Given the description of an element on the screen output the (x, y) to click on. 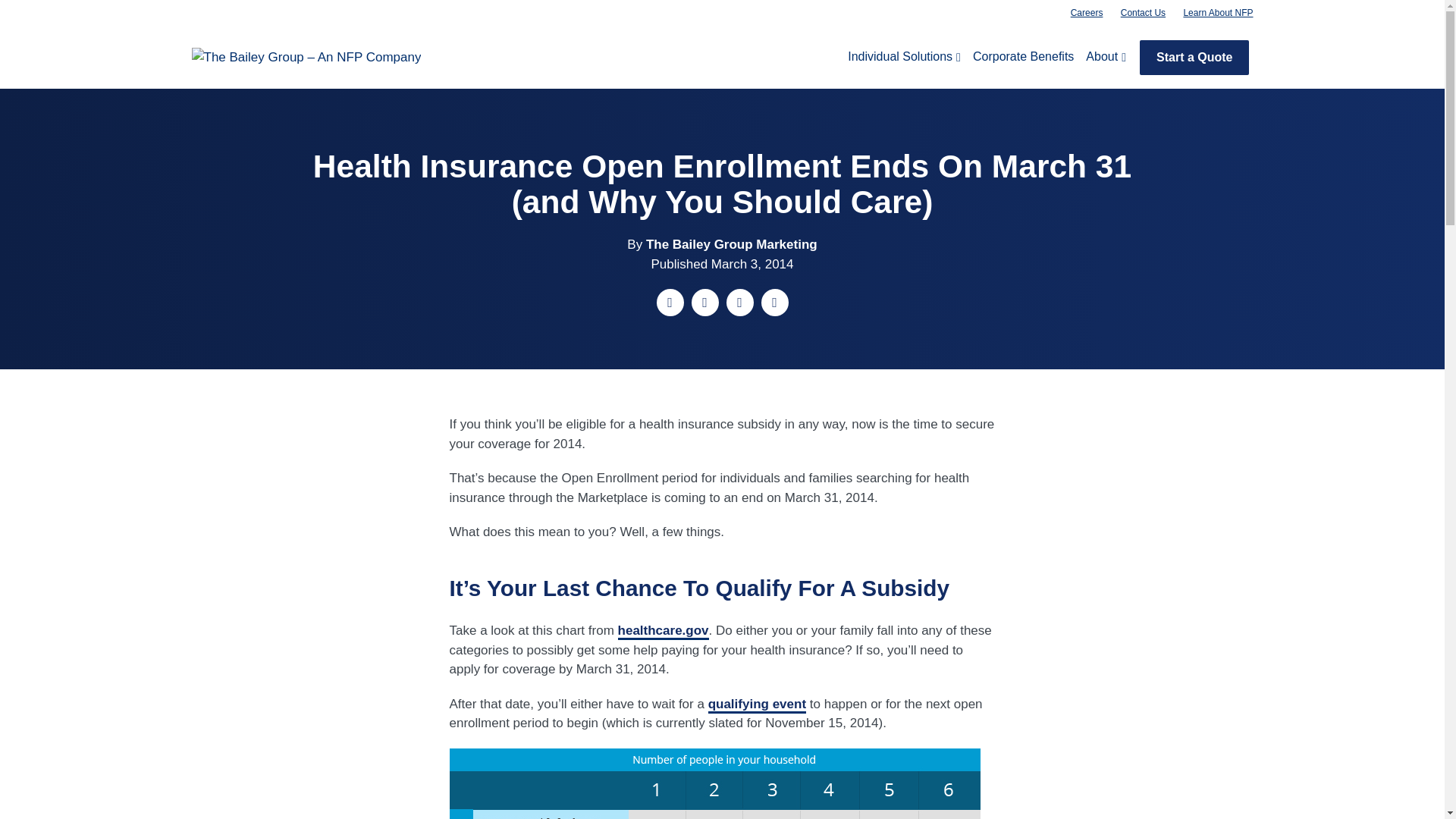
Careers (1086, 13)
How can I get coverage outside of open enrollment? (756, 704)
qualifying event (756, 704)
Corporate Benefits (1023, 56)
Individual Solutions (903, 56)
Start a Quote (1194, 57)
Learn About NFP (1217, 13)
About (1106, 56)
The Bailey Group Marketing (731, 244)
healthcare.gov (663, 631)
What income levels qualify for lower costs? (663, 631)
Contact Us (1143, 13)
